Given the description of an element on the screen output the (x, y) to click on. 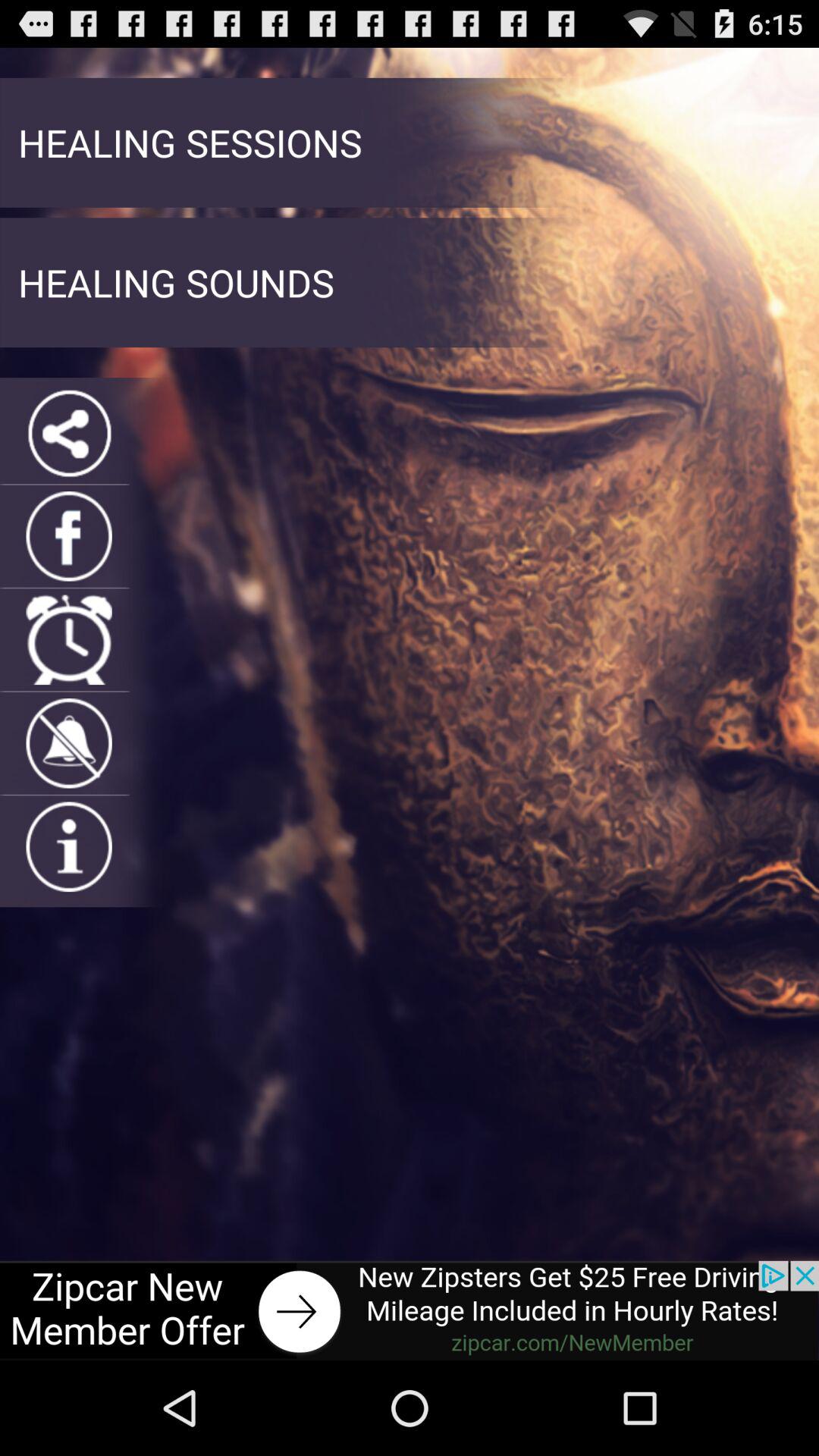
share (69, 432)
